Given the description of an element on the screen output the (x, y) to click on. 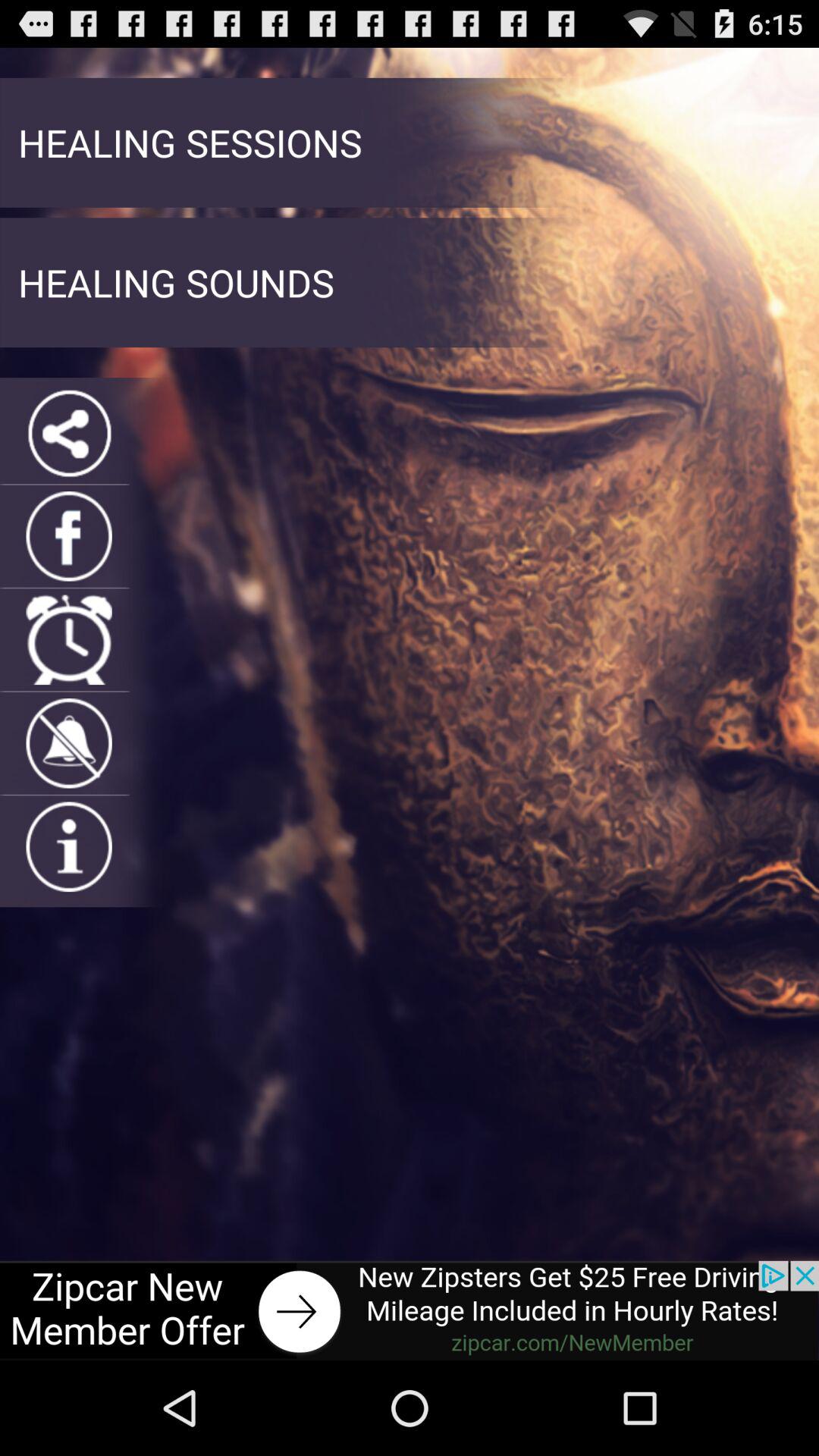
share (69, 432)
